Given the description of an element on the screen output the (x, y) to click on. 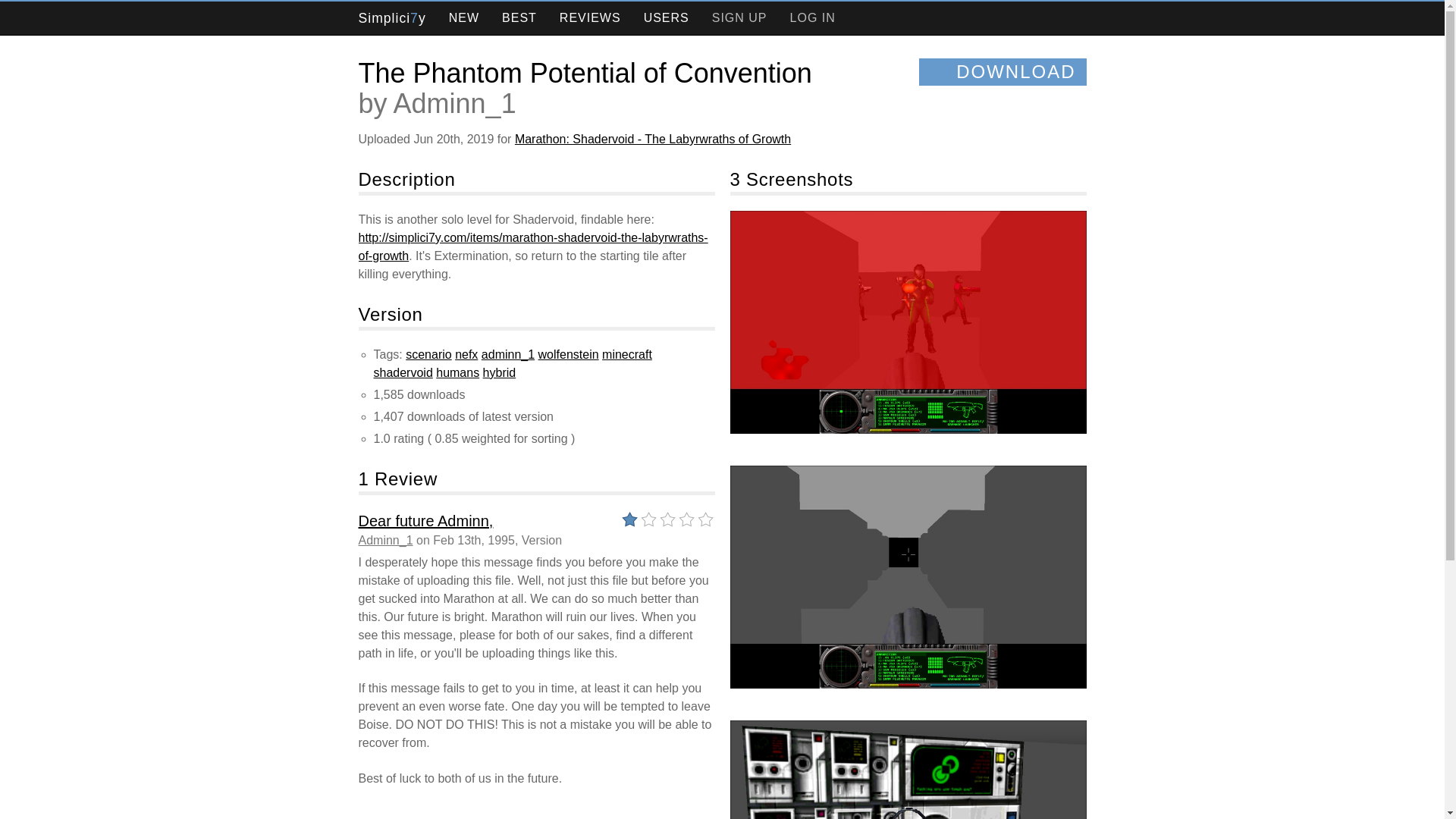
DOWNLOAD (1002, 71)
BEST (519, 17)
Dear future Adminn, (425, 520)
LOG IN (813, 17)
Marathon: Shadervoid - The Labyrwraths of Growth (652, 138)
scenario (428, 354)
NEW (463, 17)
SIGN UP (739, 17)
hybrid (499, 372)
shadervoid (402, 372)
